Given the description of an element on the screen output the (x, y) to click on. 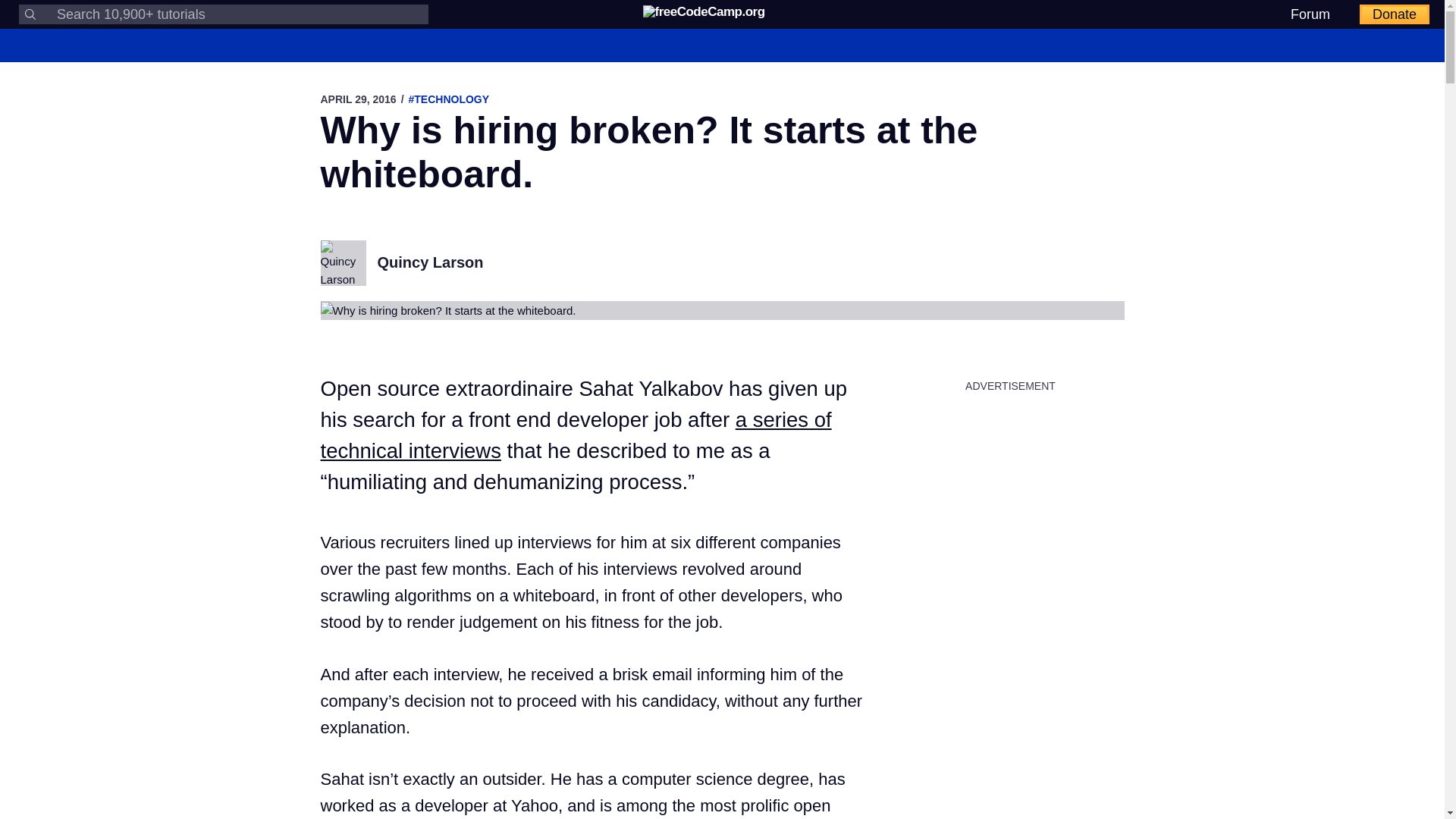
Quincy Larson (430, 262)
Forum (1309, 14)
a series of technical interviews (575, 434)
Donate (1394, 14)
Submit your search query (30, 14)
